Given the description of an element on the screen output the (x, y) to click on. 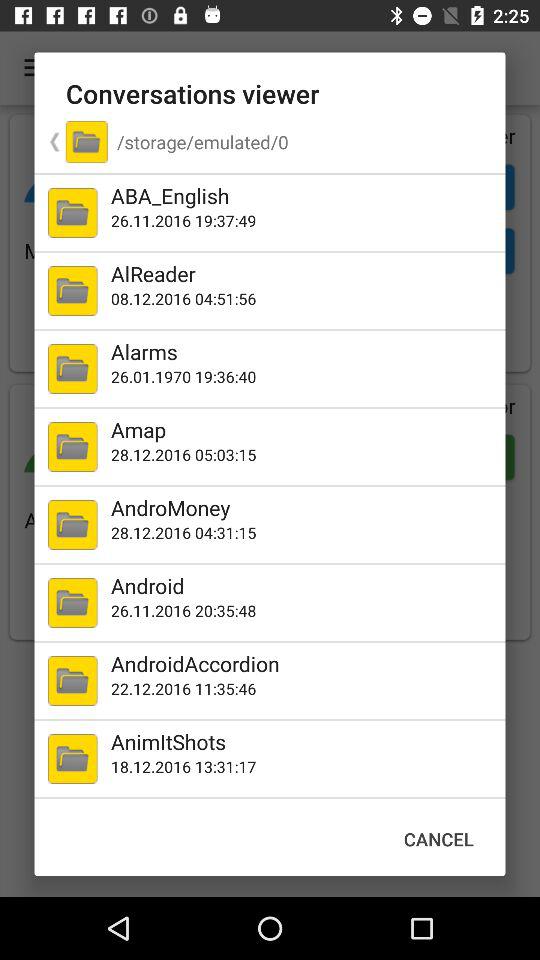
click icon below the 08 12 2016 (304, 351)
